Given the description of an element on the screen output the (x, y) to click on. 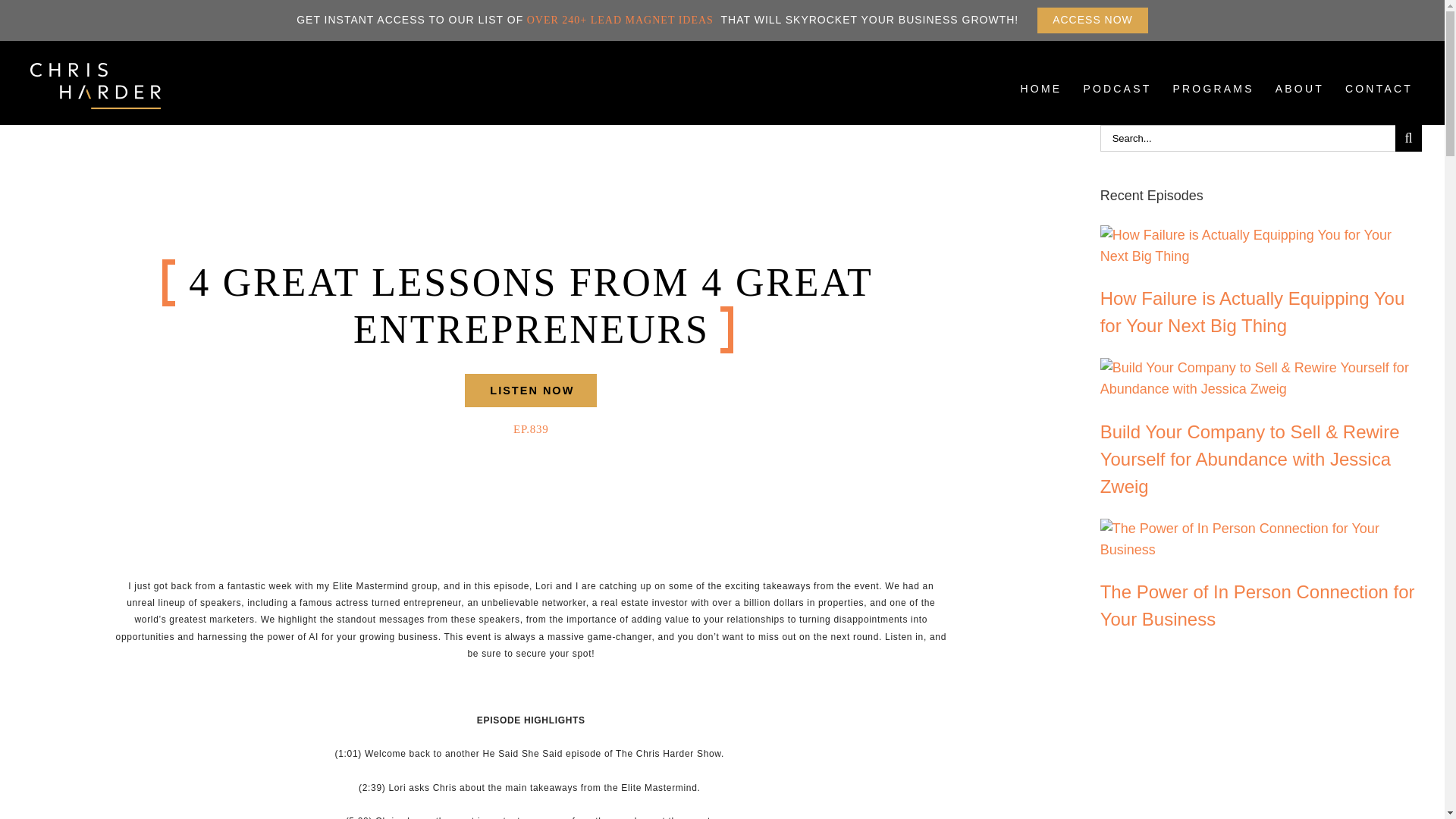
PODCAST (530, 390)
PROGRAMS (1117, 99)
ABOUT (1212, 99)
CONTACT (1299, 99)
ACCESS NOW (1378, 99)
HOME (1092, 20)
